Given the description of an element on the screen output the (x, y) to click on. 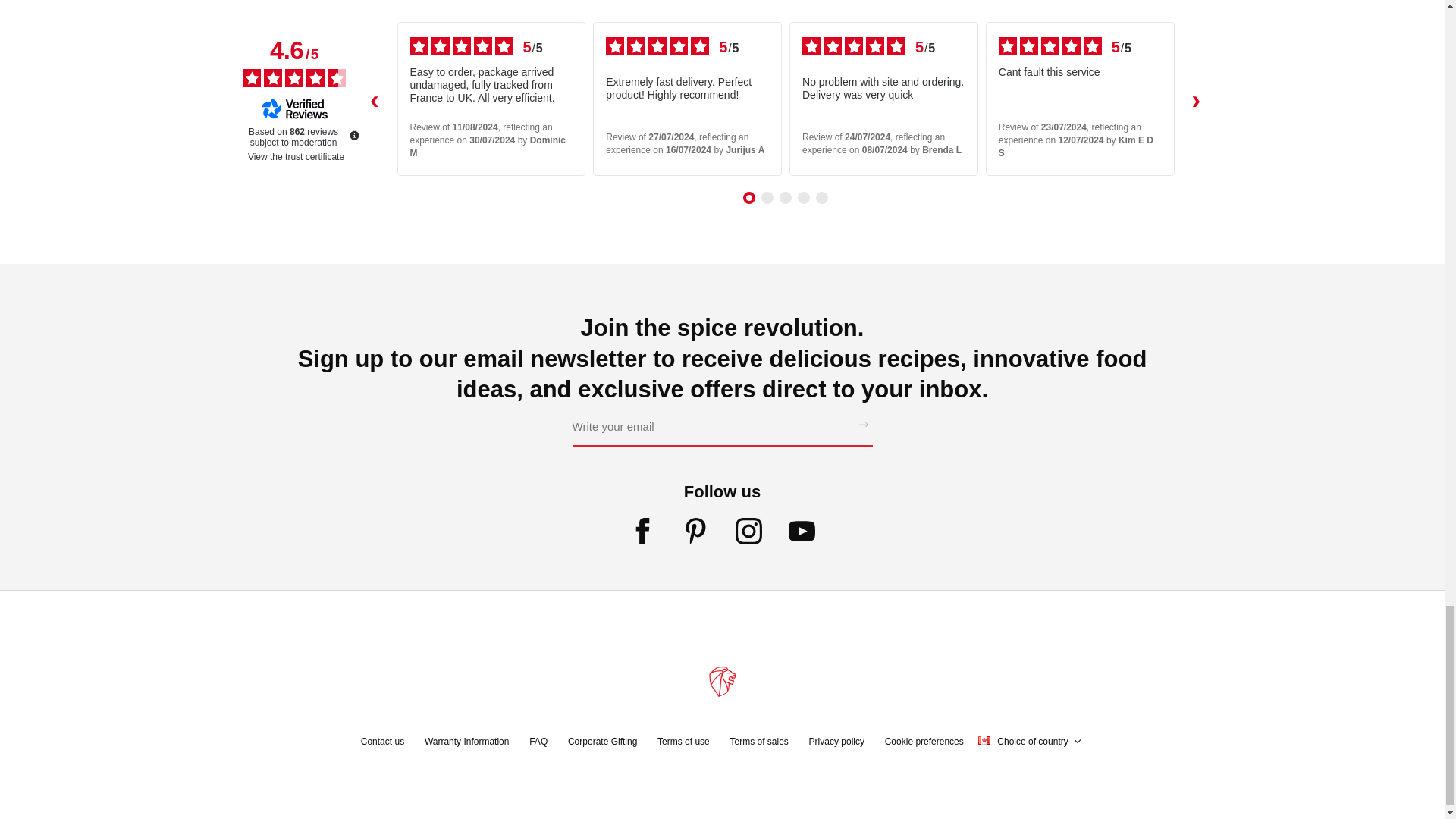
Submit (862, 426)
Pinterest (695, 534)
Facebook (642, 534)
